Given the description of an element on the screen output the (x, y) to click on. 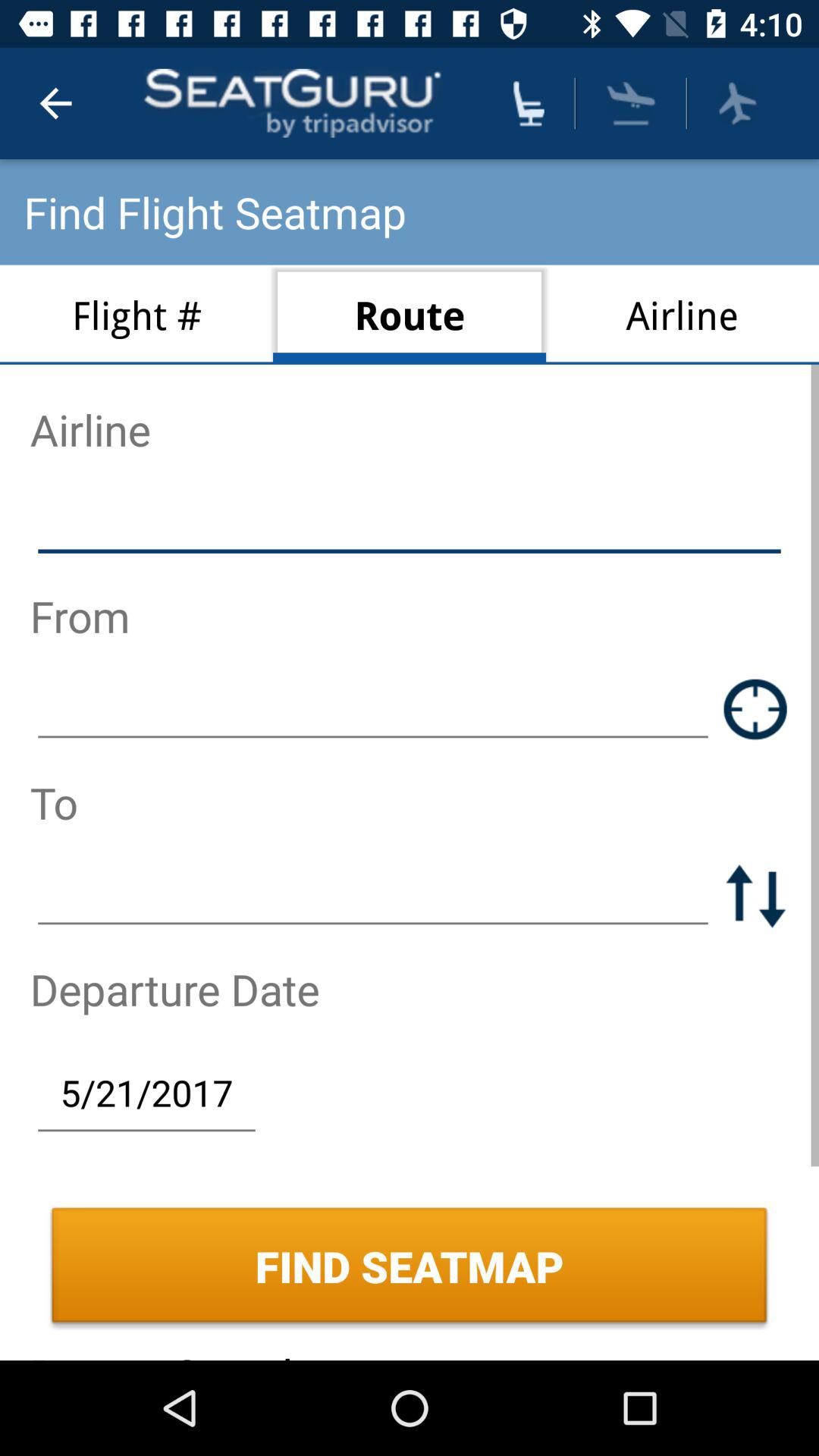
from person (373, 708)
